Given the description of an element on the screen output the (x, y) to click on. 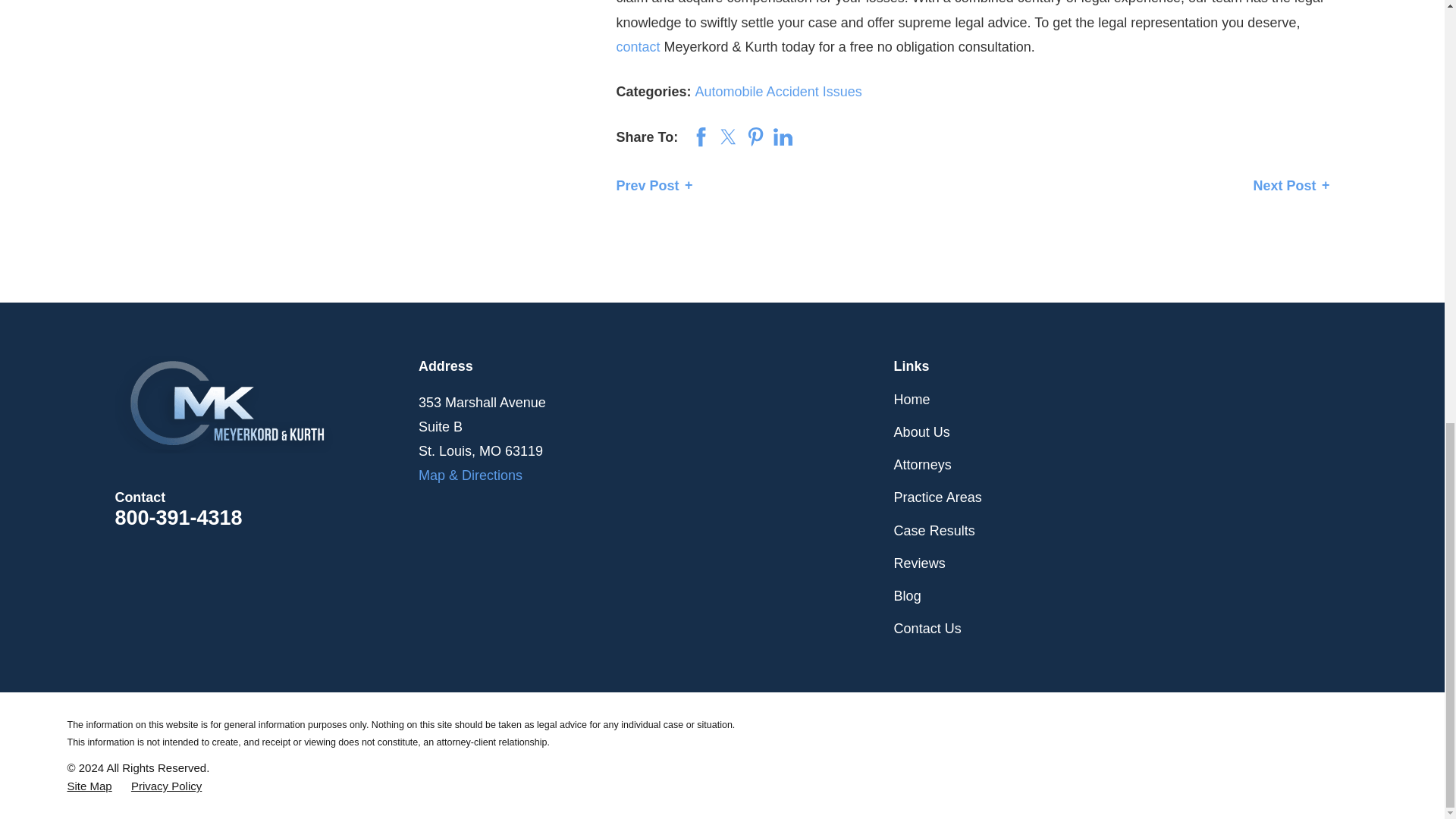
Home (267, 404)
